Given the description of an element on the screen output the (x, y) to click on. 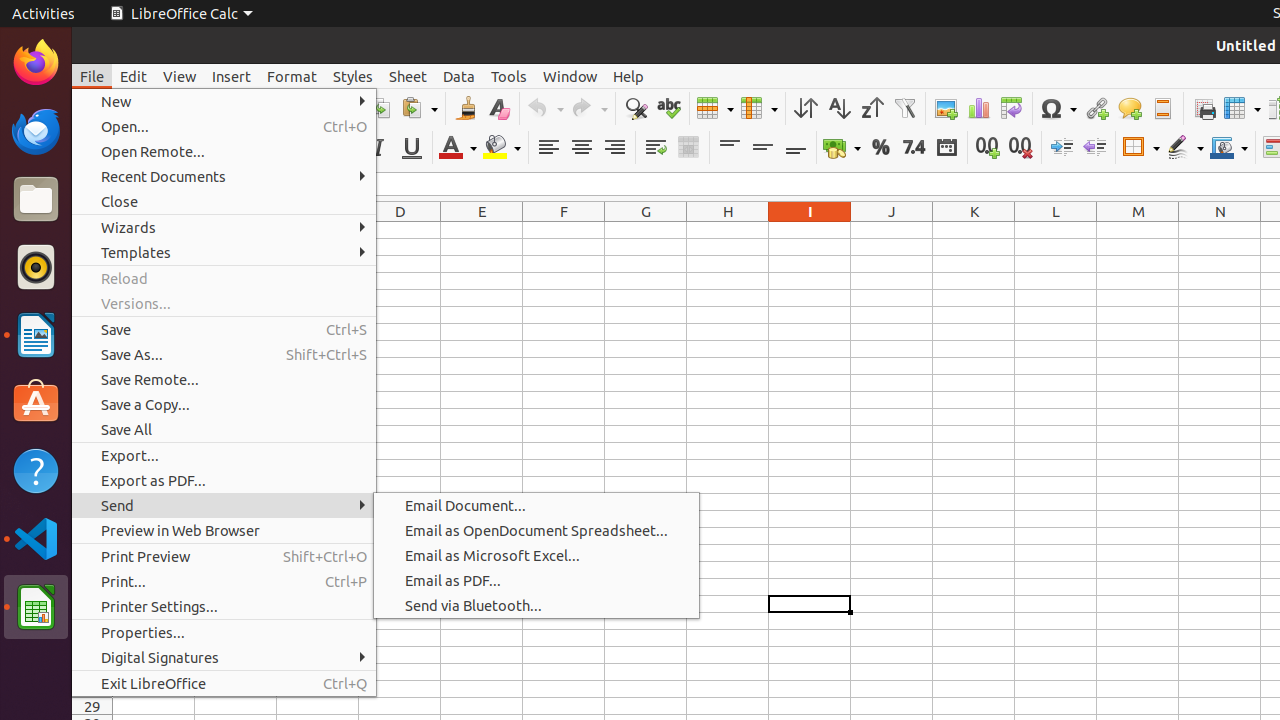
Save Remote... Element type: menu-item (224, 379)
New Element type: menu (224, 101)
Printer Settings... Element type: menu-item (224, 606)
Styles Element type: menu (353, 76)
Email Document... Element type: menu-item (536, 505)
